Given the description of an element on the screen output the (x, y) to click on. 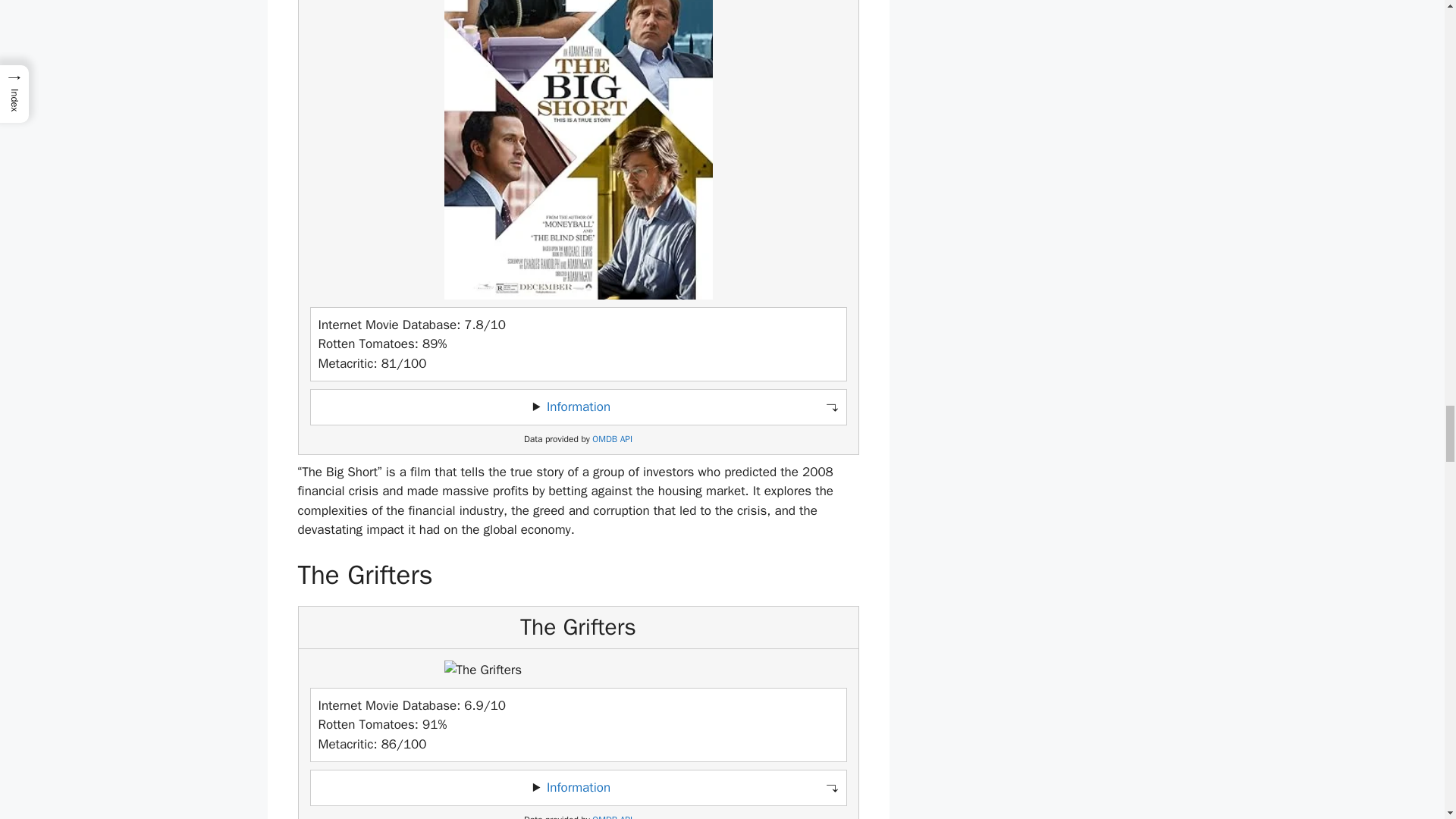
Information (578, 787)
OMDB API (611, 439)
Information (578, 406)
OMDB API (611, 816)
